Given the description of an element on the screen output the (x, y) to click on. 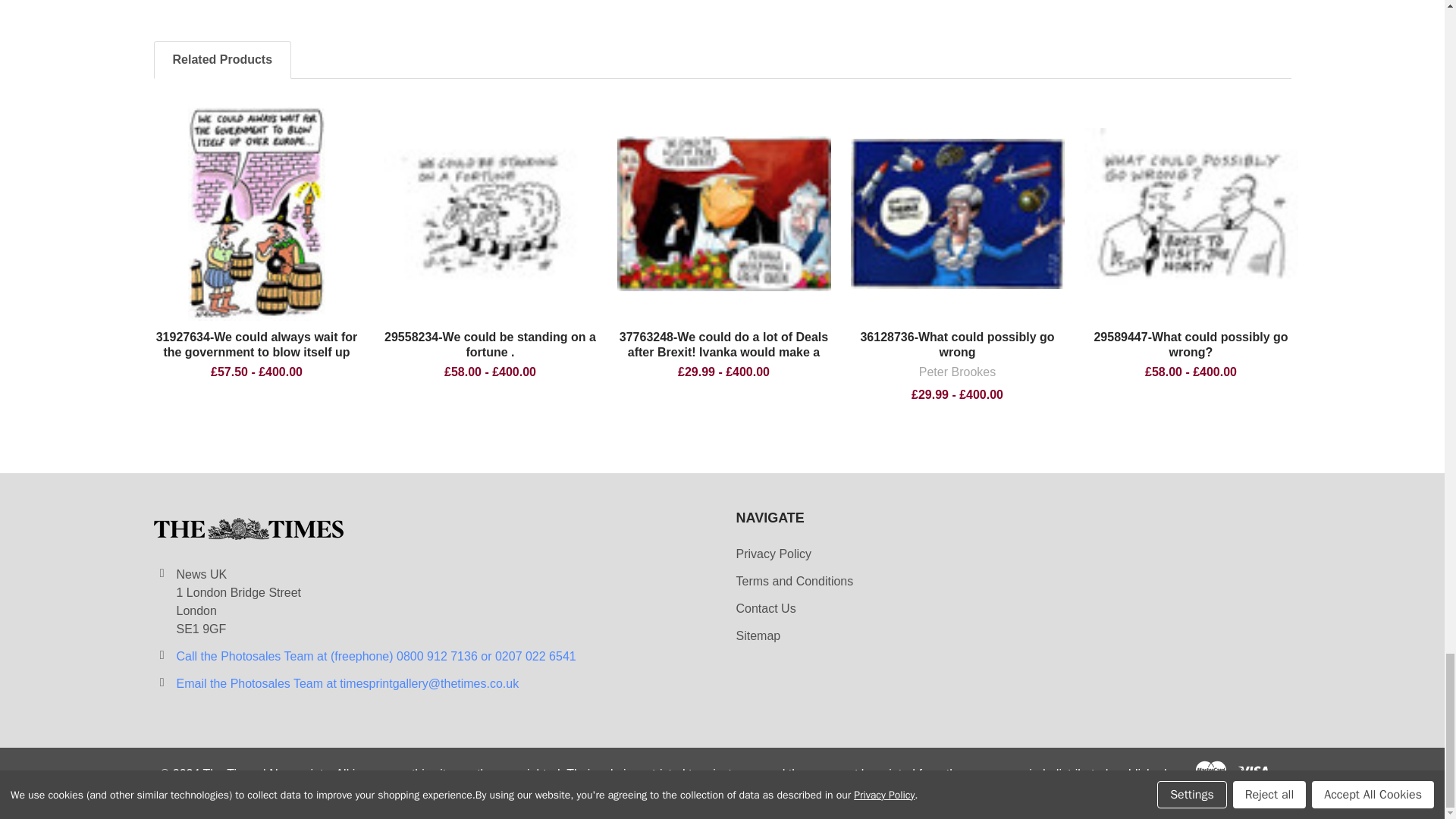
image 1 (1191, 213)
image 1 (256, 214)
image 1 (957, 213)
image 1 (490, 213)
image 1 (724, 213)
